Given the description of an element on the screen output the (x, y) to click on. 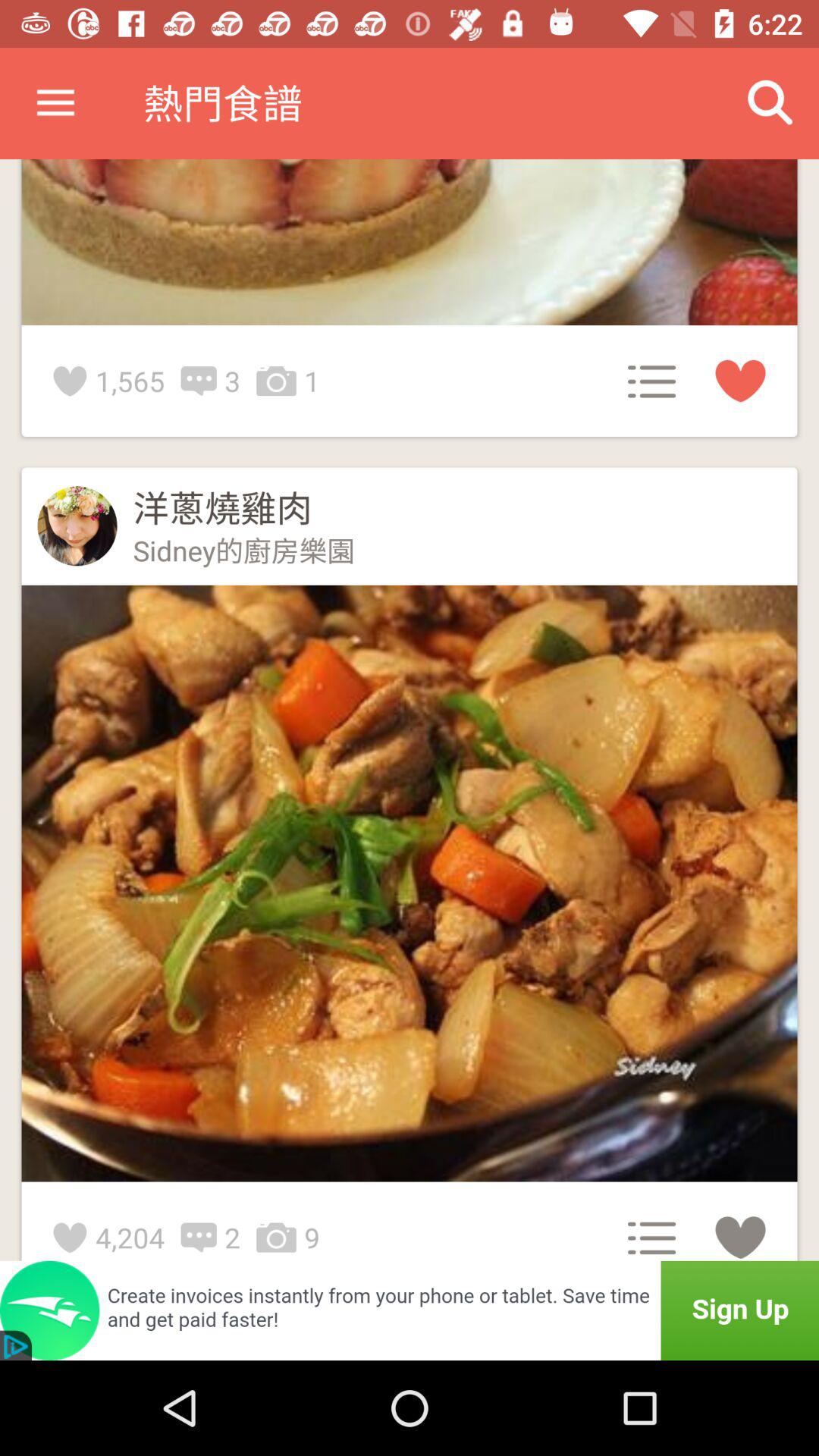
select the second frame (409, 860)
click on the symbol which is to the left of the number 4204 (74, 1237)
click on the icon above sign up and left side of heart symbol (651, 1238)
click on comment icon beside 4204 (202, 1237)
select the icon right side of 1565 (202, 381)
click on the menu button next to 1 (651, 380)
